Given the description of an element on the screen output the (x, y) to click on. 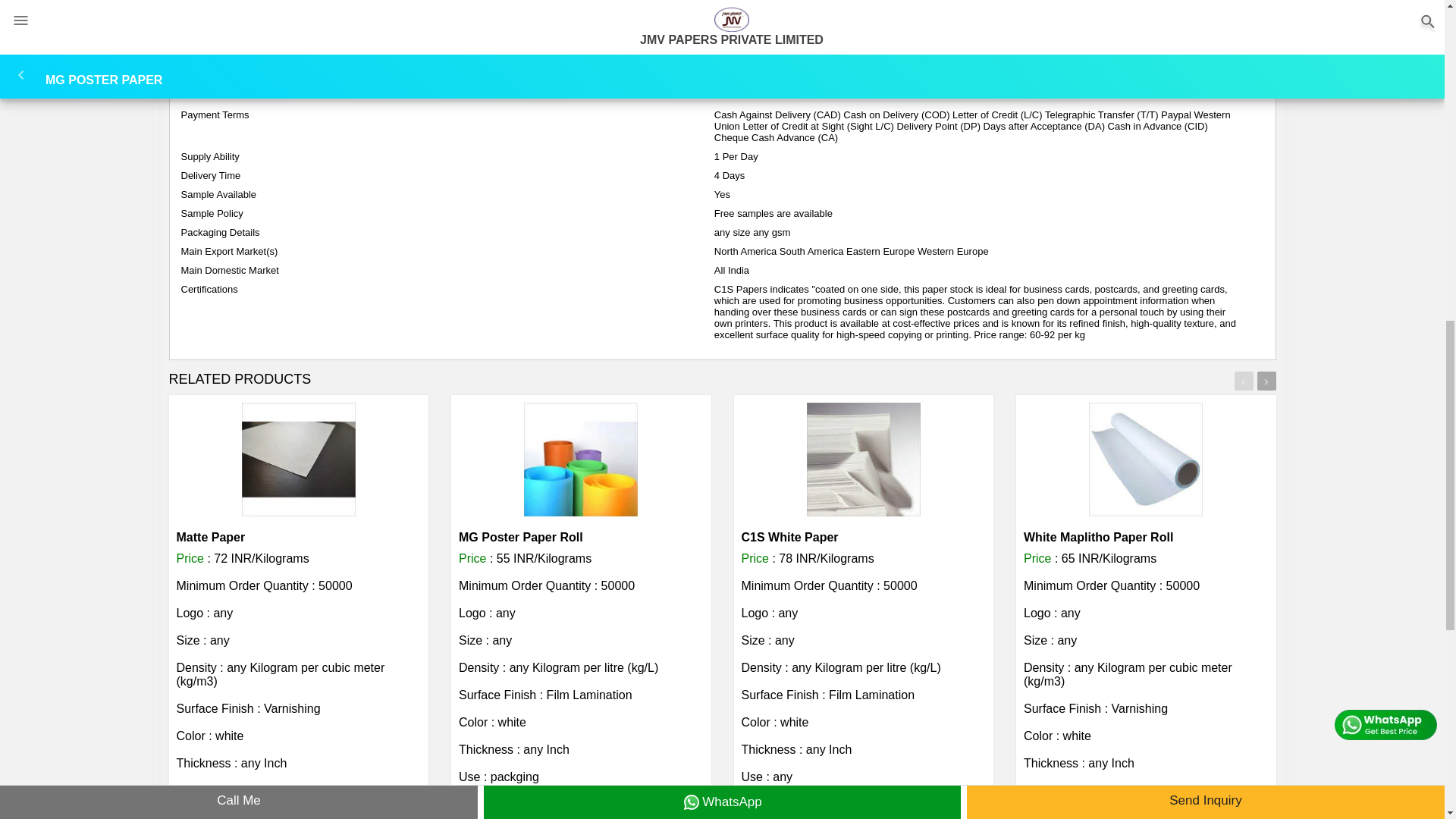
C1S White Paper (789, 536)
White Maplitho Paper Roll (1098, 536)
Matte Paper (210, 536)
MG Poster Paper Roll (520, 536)
